Given the description of an element on the screen output the (x, y) to click on. 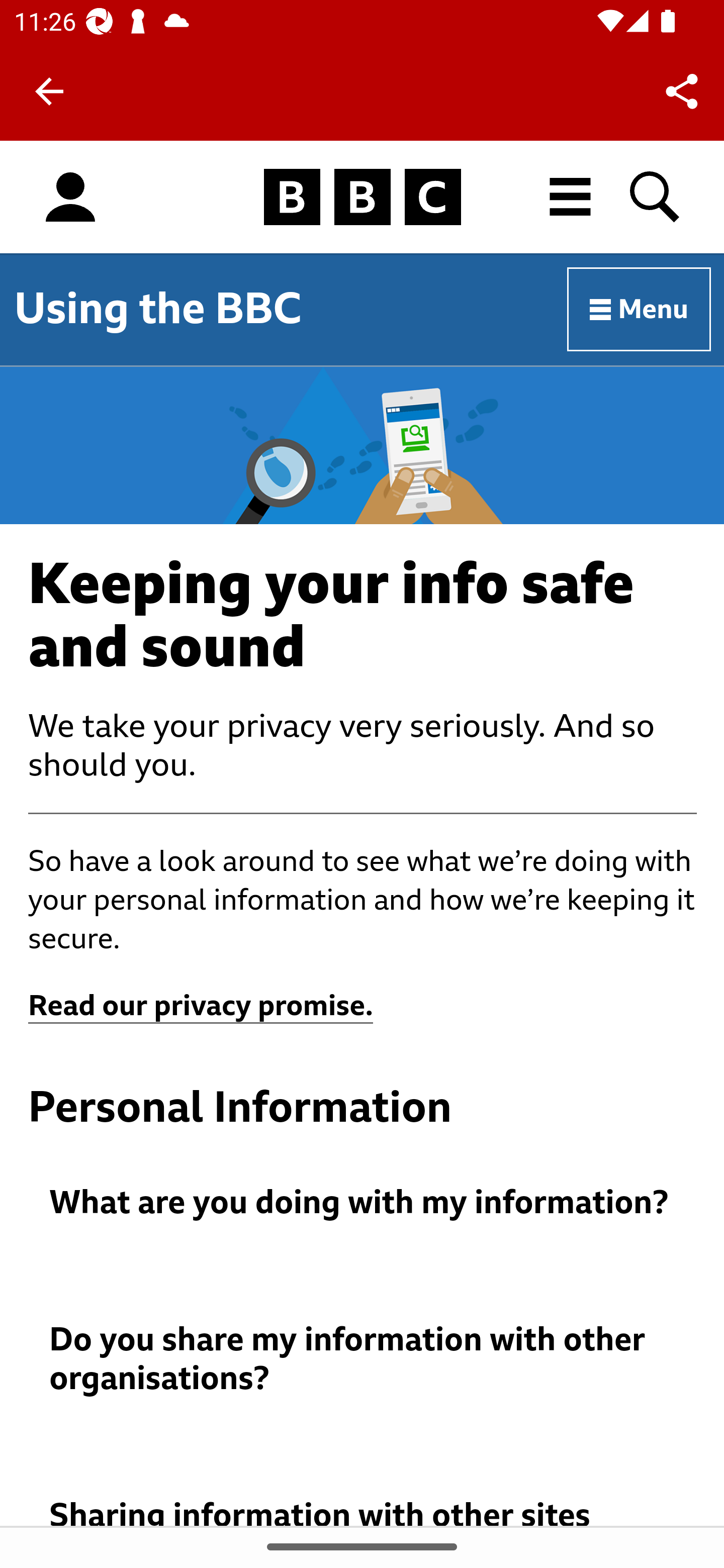
Back (49, 91)
Share (681, 90)
